Given the description of an element on the screen output the (x, y) to click on. 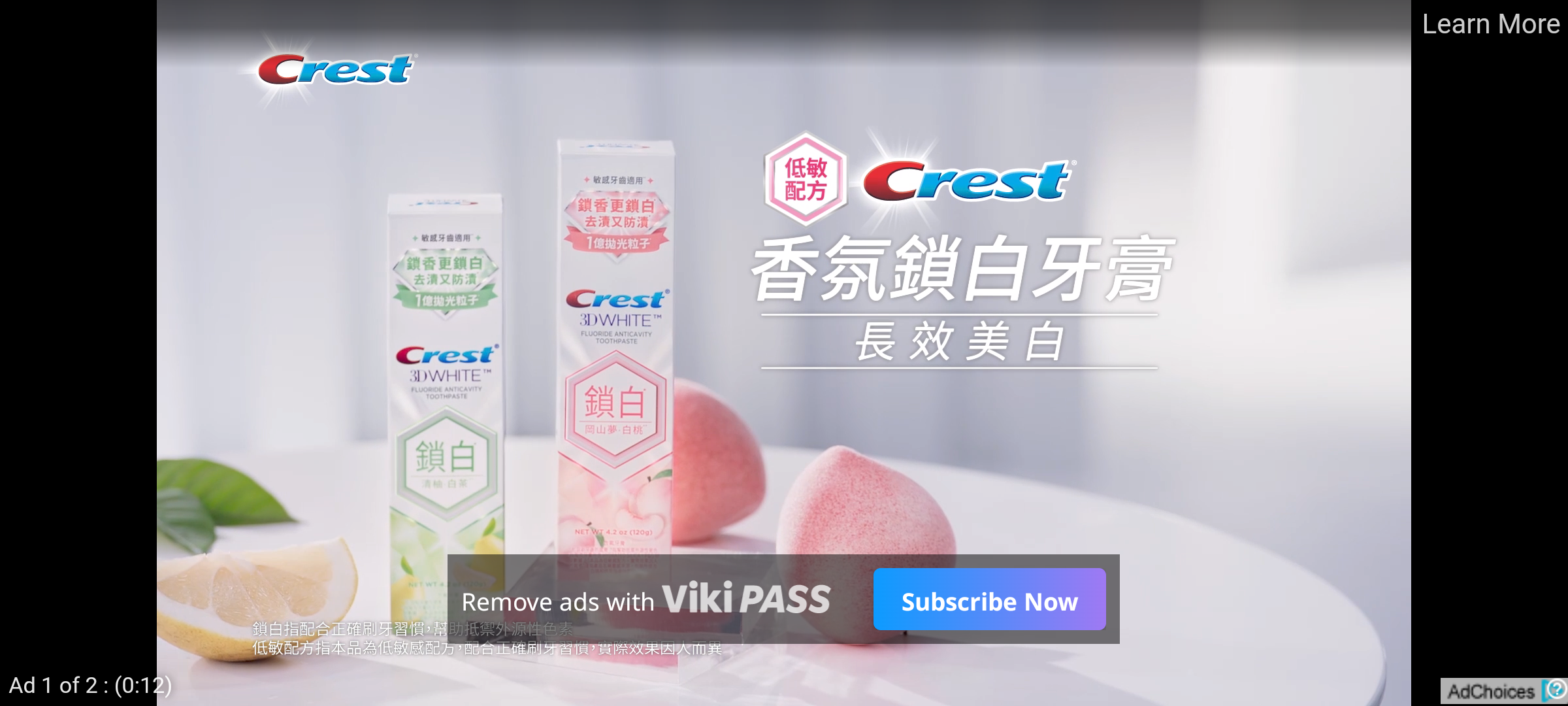
Learn More (1490, 24)
Subscribe Now (989, 599)
Ad 1 of 2 : (0:12) (90, 684)
help_outline_white_24dp_with_3px_trbl_padding (1553, 688)
get?name=admarker-full-tl (1504, 690)
